Given the description of an element on the screen output the (x, y) to click on. 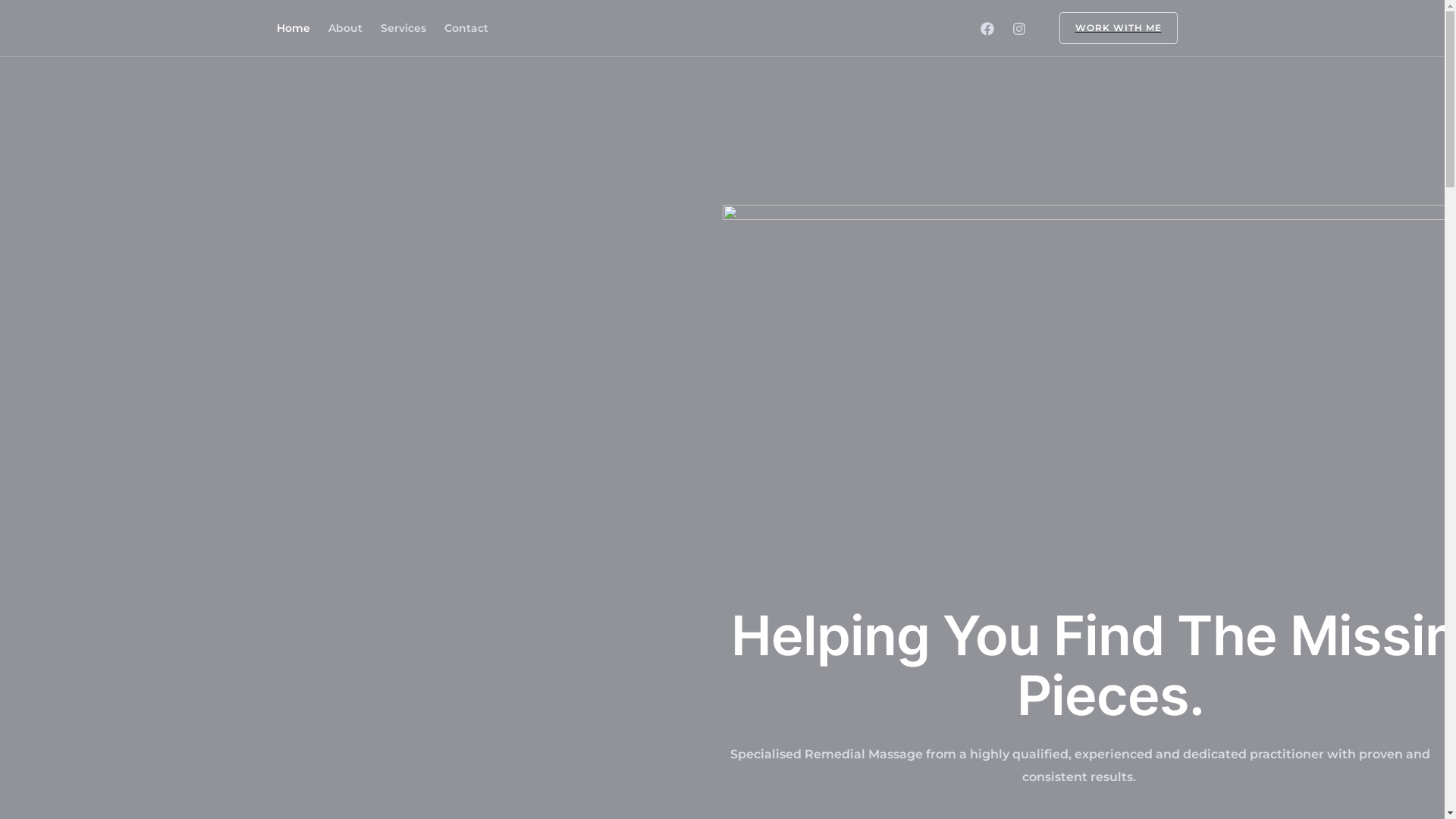
Home Element type: text (292, 27)
Services Element type: text (403, 27)
About Element type: text (344, 27)
Contact Element type: text (466, 27)
WORK WITH ME Element type: text (1108, 27)
